Given the description of an element on the screen output the (x, y) to click on. 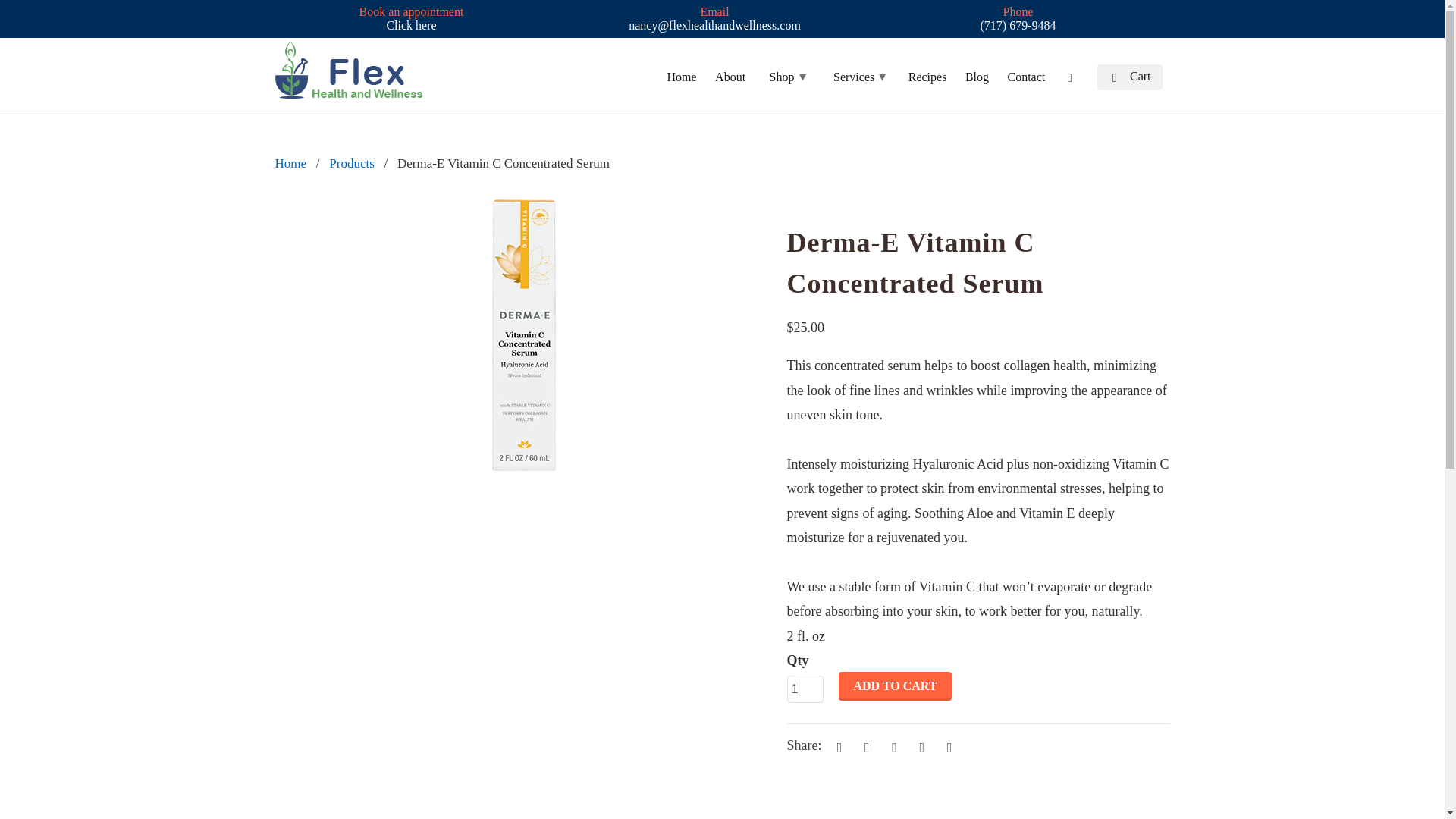
Email this to a friend (946, 746)
1 (805, 688)
Share this on Pinterest (892, 746)
Flex Health and Wellness (352, 70)
Flex Health and Wellness (290, 163)
Products (351, 163)
Home (290, 163)
Products (351, 163)
Share this on Twitter (836, 746)
ADD TO CART (895, 686)
Share this on Facebook (863, 746)
